Given the description of an element on the screen output the (x, y) to click on. 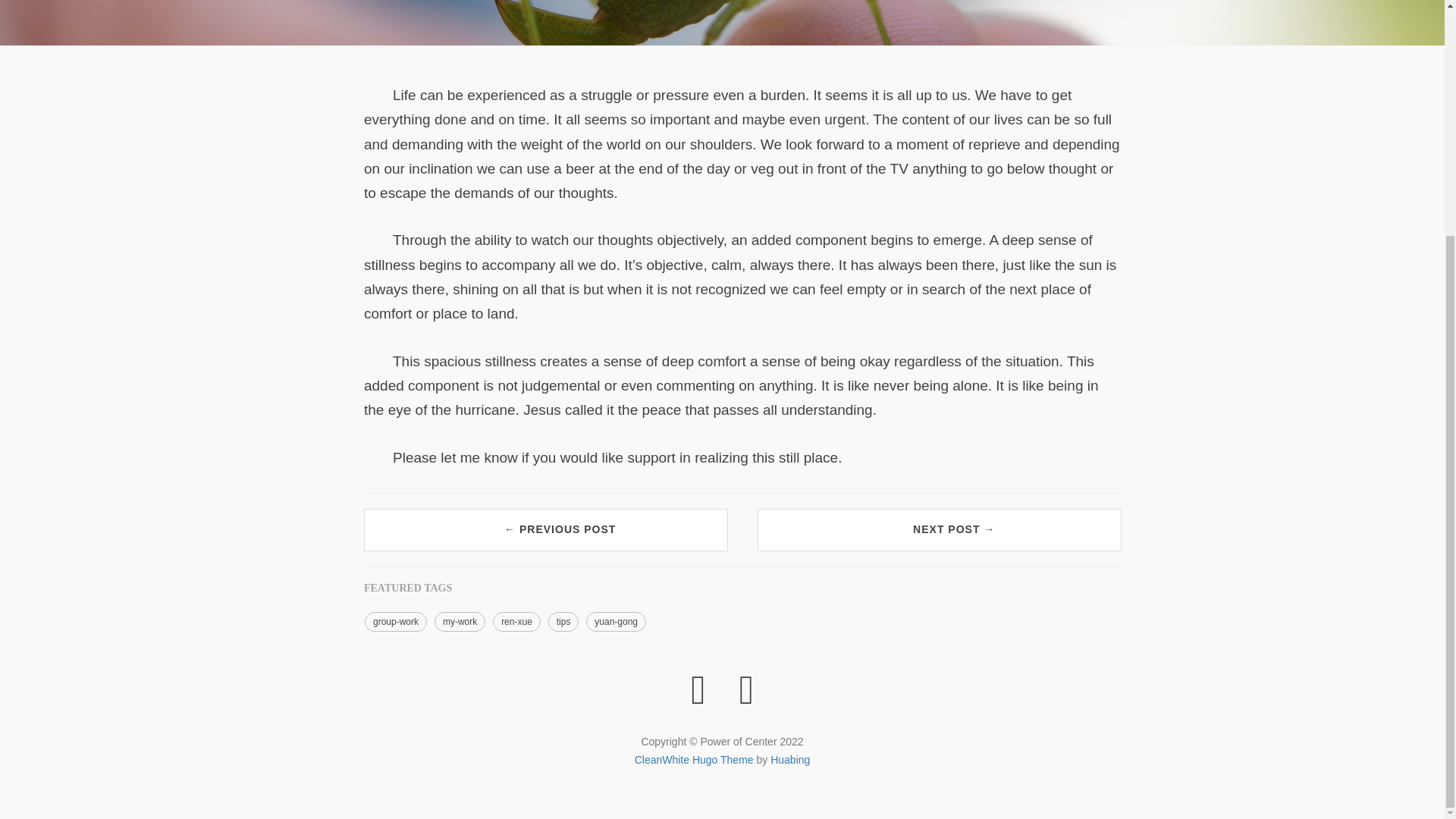
yuan-gong (616, 621)
group-work (395, 621)
tips (563, 621)
CleanWhite Hugo Theme (694, 759)
Power of Center (697, 688)
group-work (395, 621)
ren-xue (516, 621)
FEATURED TAGS (407, 587)
my-work (458, 621)
my-work (458, 621)
